Given the description of an element on the screen output the (x, y) to click on. 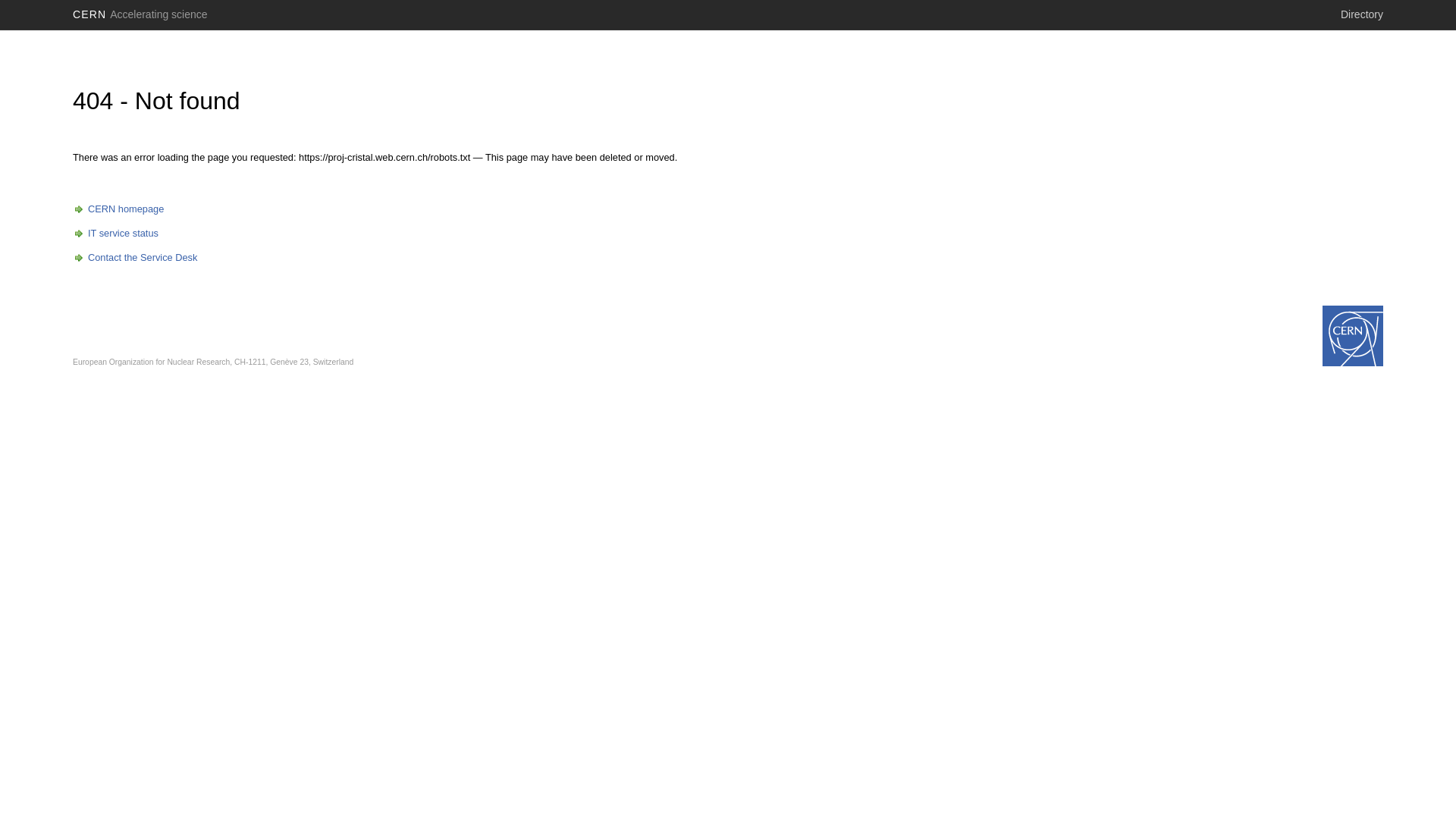
CERN homepage Element type: text (117, 208)
IT service status Element type: text (115, 232)
Directory Element type: text (1361, 14)
Contact the Service Desk Element type: text (134, 257)
CERN Accelerating science Element type: text (139, 14)
www.cern.ch Element type: hover (1352, 335)
